Given the description of an element on the screen output the (x, y) to click on. 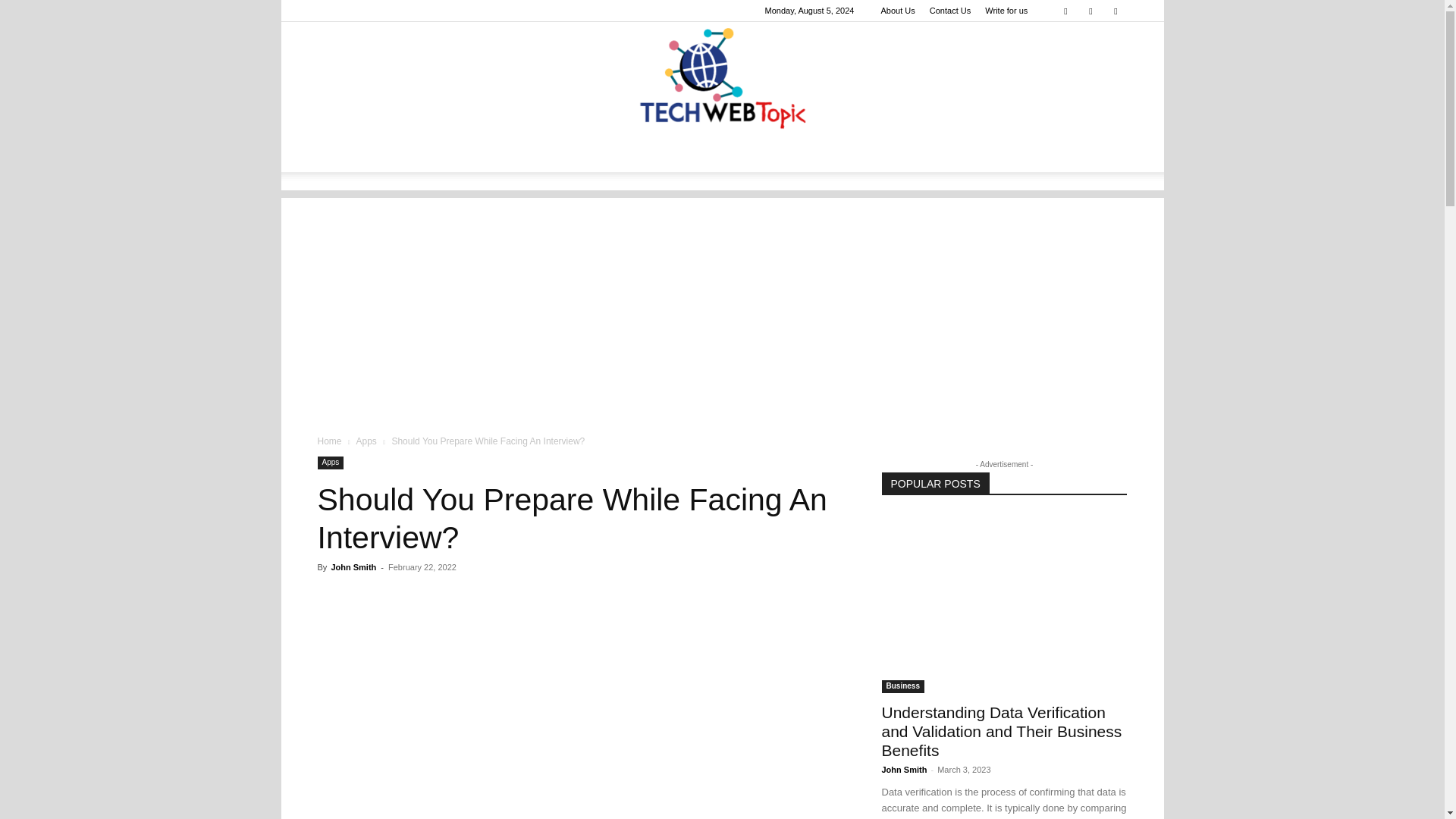
About Us (897, 10)
Techwebtopic (721, 78)
Pinterest (1090, 10)
Contact Us (950, 10)
TECHNOLOGY (365, 153)
Medium (1065, 10)
Reddit (1114, 10)
Write for us (1006, 10)
View all posts in Apps (365, 440)
Techwebtopic (721, 78)
